Given the description of an element on the screen output the (x, y) to click on. 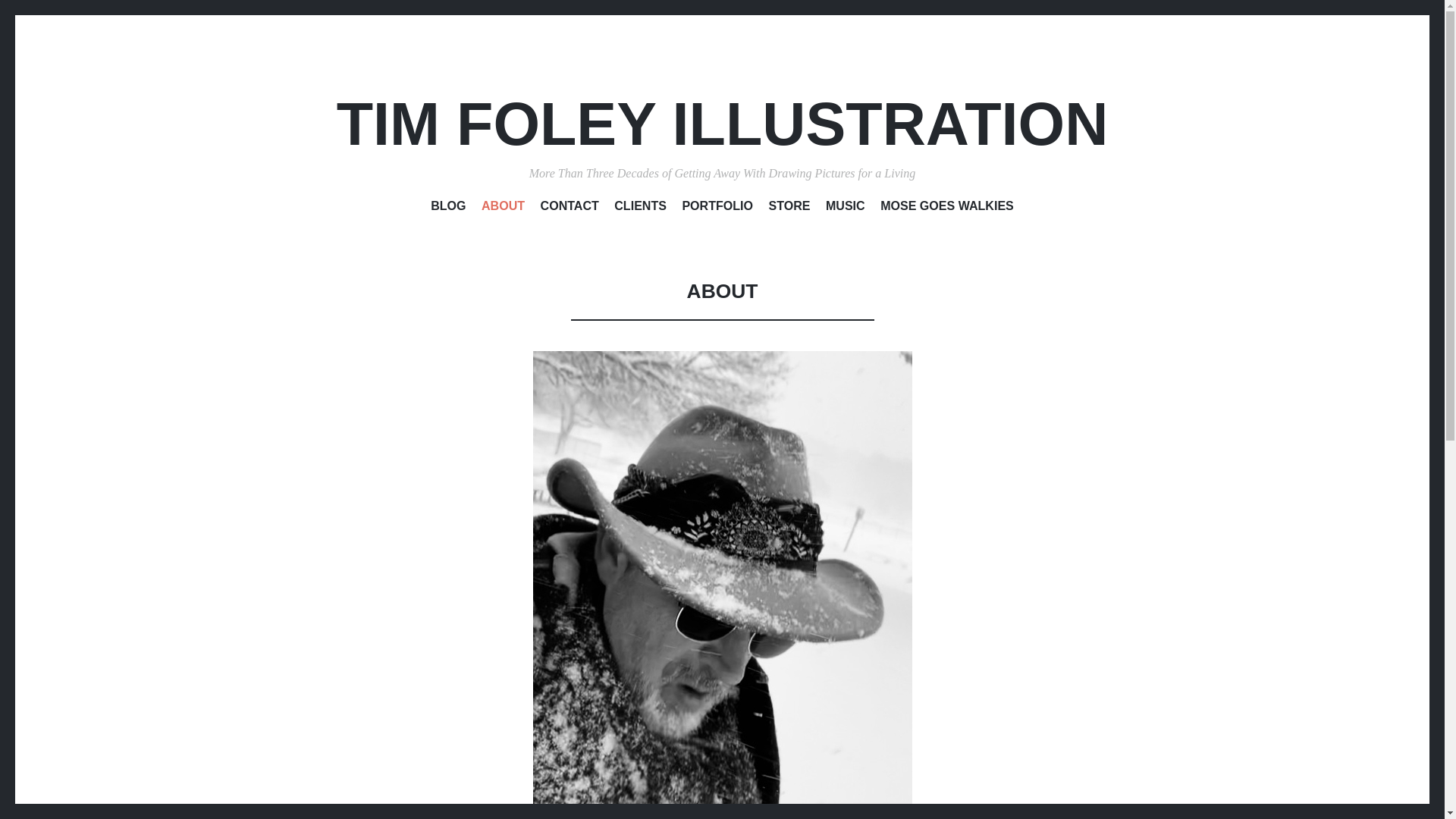
ABOUT (502, 208)
TIM FOLEY ILLUSTRATION (722, 123)
CLIENTS (640, 208)
STORE (788, 208)
MUSIC (844, 208)
CONTACT (569, 208)
BLOG (447, 208)
PORTFOLIO (716, 208)
MOSE GOES WALKIES (946, 208)
